Given the description of an element on the screen output the (x, y) to click on. 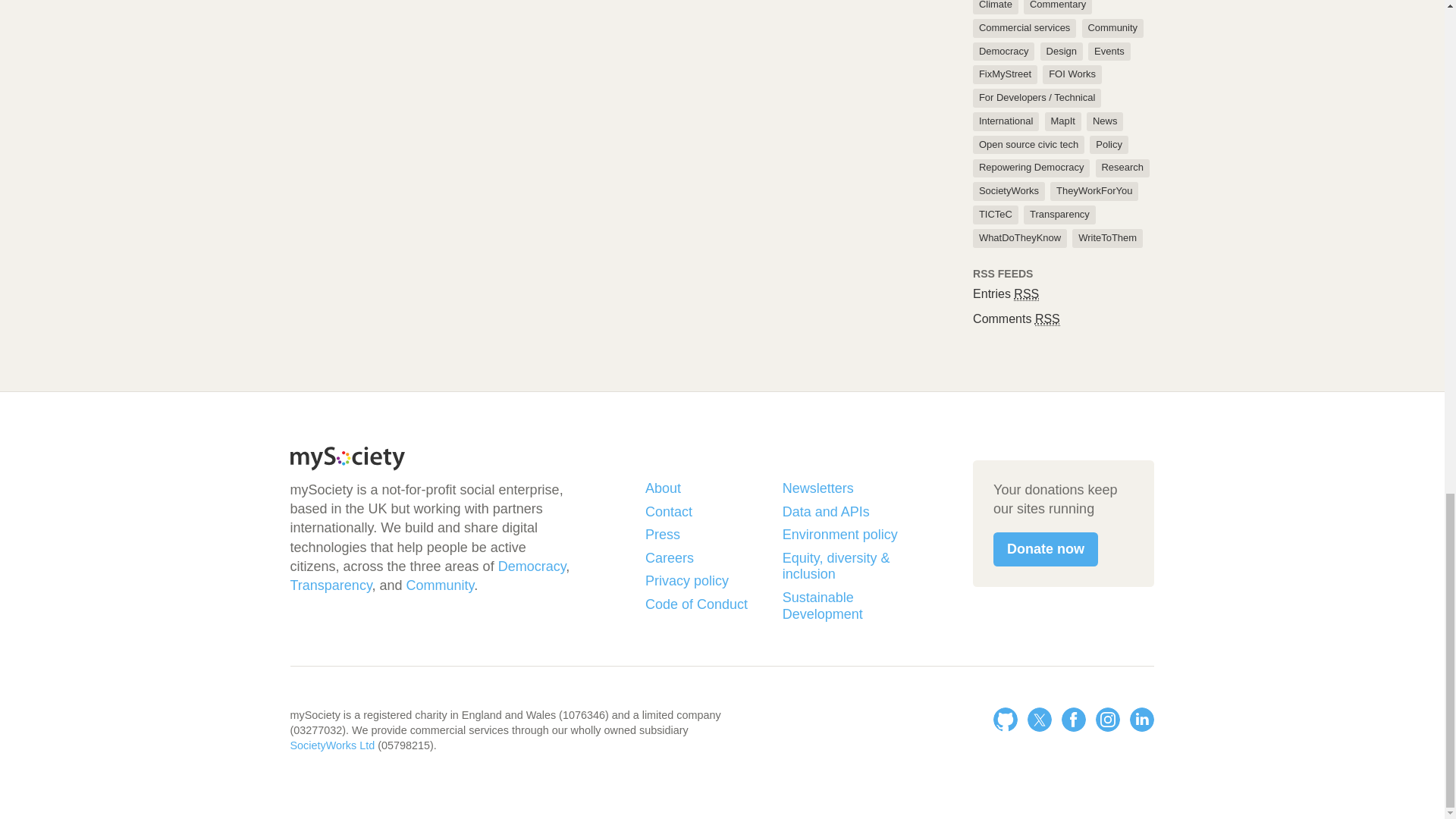
The latest comments to all posts in RSS (1015, 318)
Syndicate this site using RSS 2.0 (1005, 294)
Code of Conduct (706, 605)
Really Simple Syndication (1026, 294)
Really Simple Syndication (1047, 318)
